Given the description of an element on the screen output the (x, y) to click on. 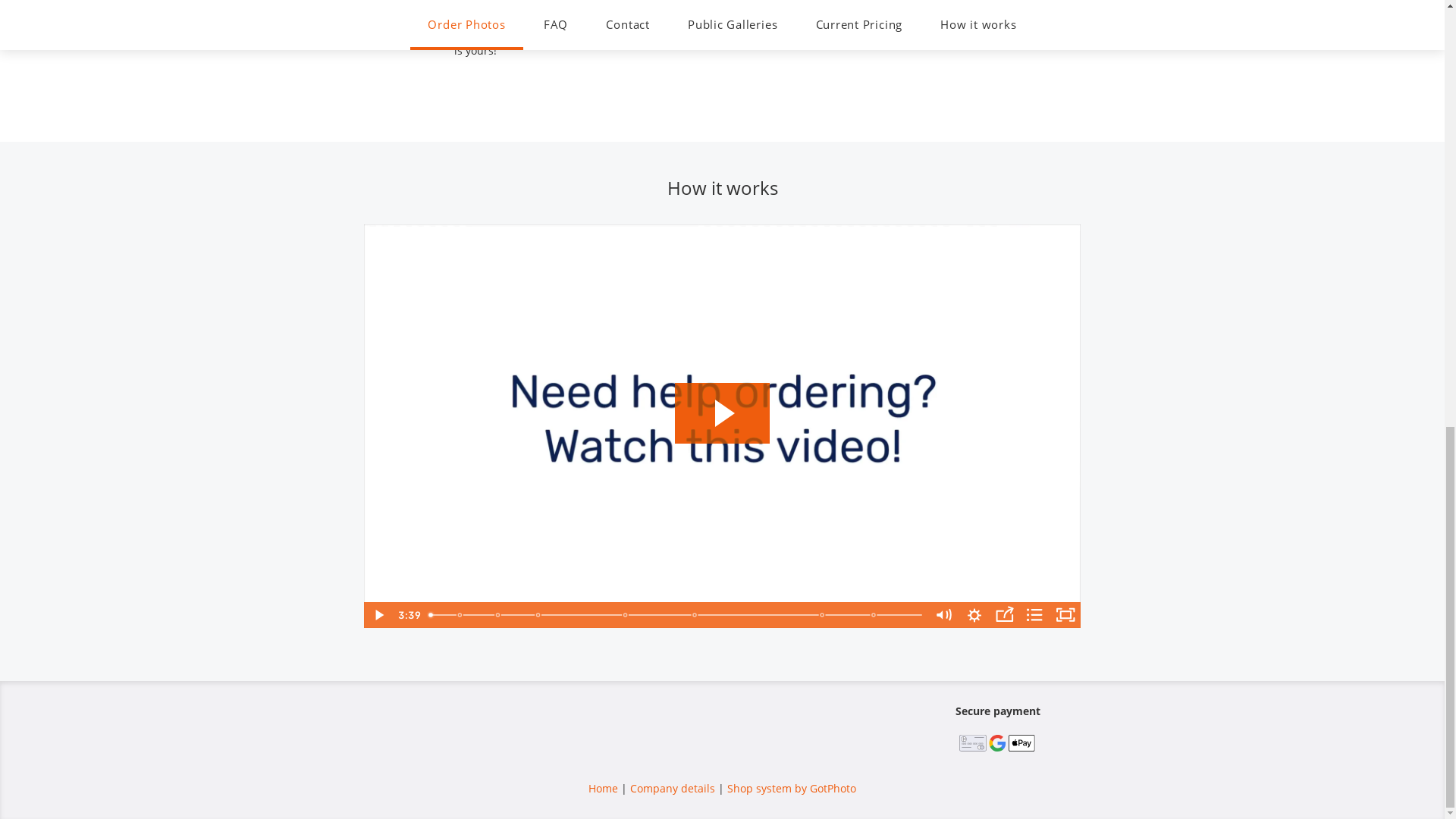
ALREADY HAVE AN ACCOUNT? Element type: text (721, 476)
Open your album Element type: text (722, 346)
CART Element type: text (1141, 30)
